Given the description of an element on the screen output the (x, y) to click on. 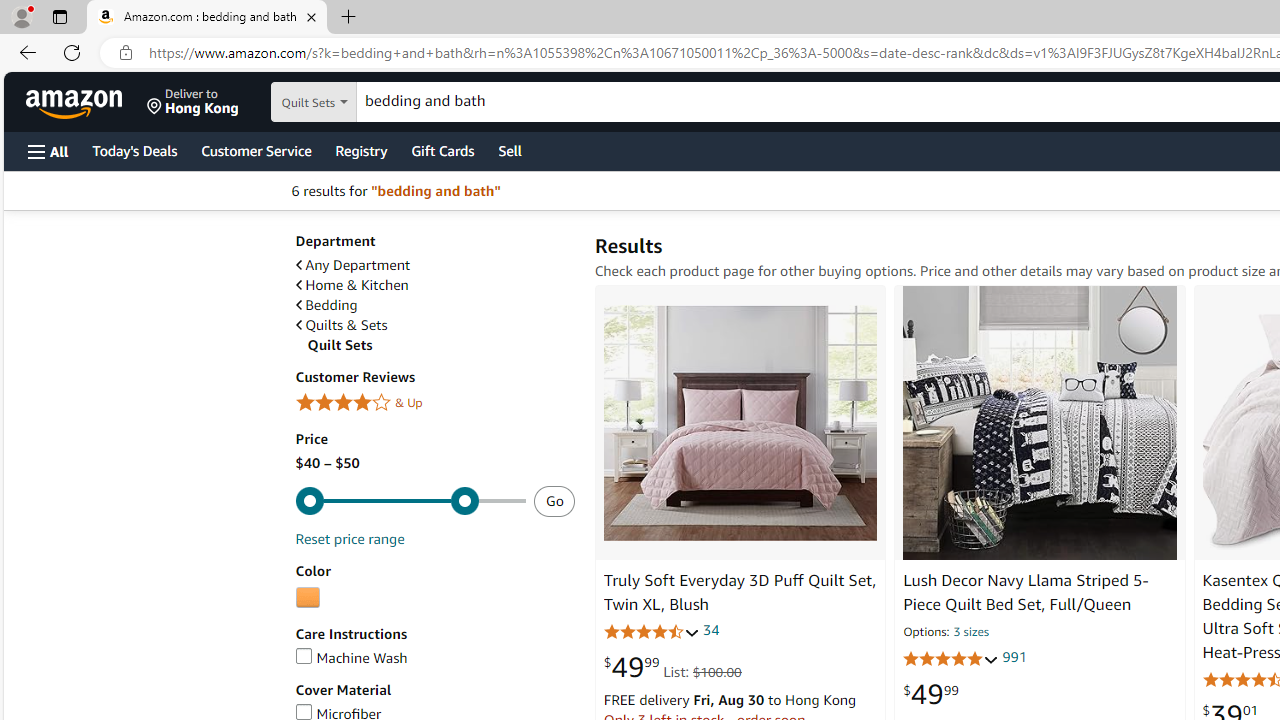
Amazon.com : bedding and bath (207, 17)
Any Department (352, 265)
Bedding (434, 304)
4 Stars & Up& Up (434, 404)
Go - Submit price range (554, 501)
Gift Cards (442, 150)
4.8 out of 5 stars (950, 659)
Skip to main content (86, 100)
Today's Deals (134, 150)
Any Department (434, 265)
Deliver to Hong Kong (193, 101)
Bedding (326, 305)
